Given the description of an element on the screen output the (x, y) to click on. 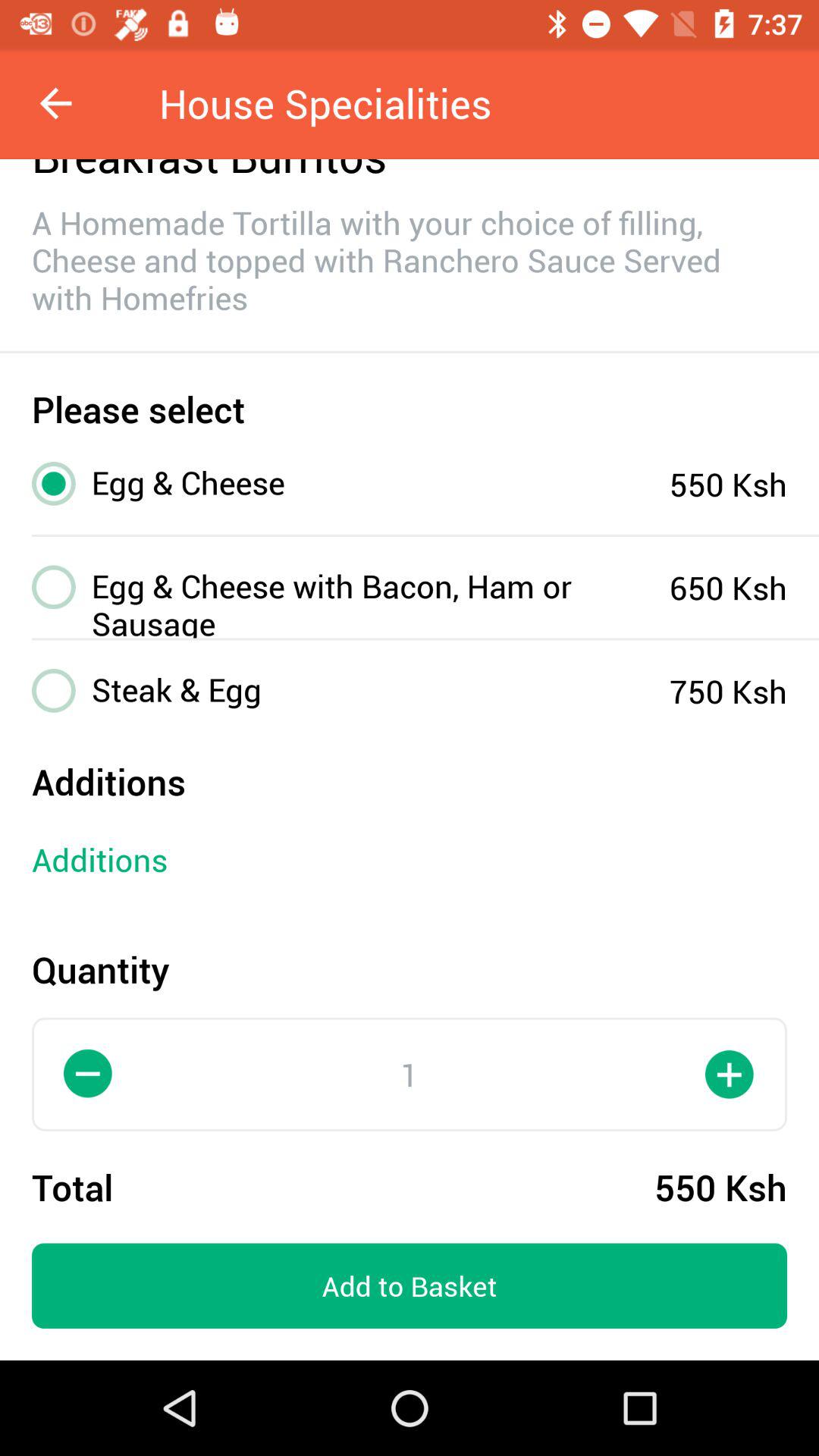
launch the icon to the left of 1 icon (88, 1074)
